Given the description of an element on the screen output the (x, y) to click on. 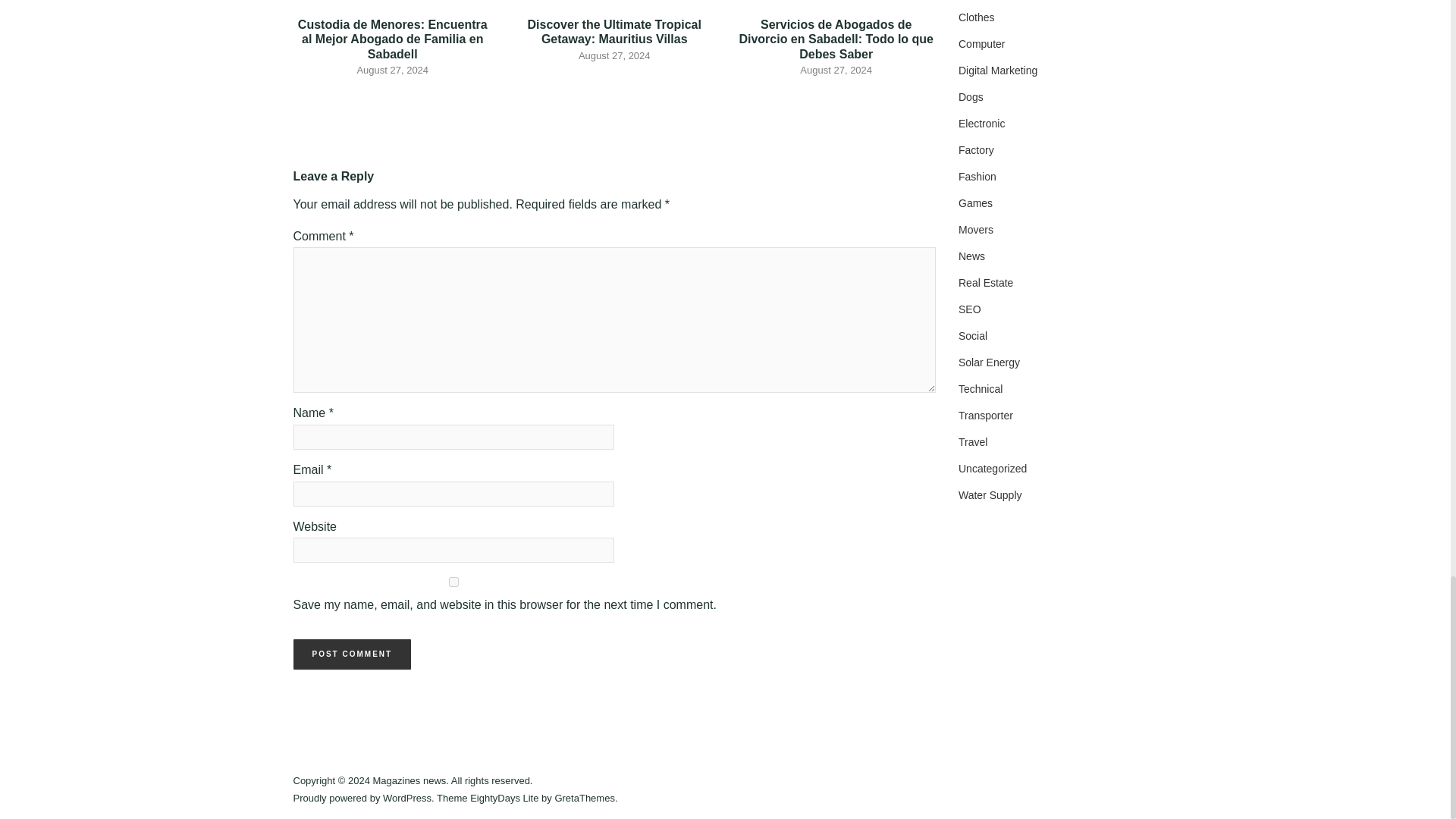
Post Comment (351, 654)
yes (453, 582)
Discover the Ultimate Tropical Getaway: Mauritius Villas (614, 31)
Discover the Ultimate Tropical Getaway: Mauritius Villas (614, 31)
Post Comment (351, 654)
